Given the description of an element on the screen output the (x, y) to click on. 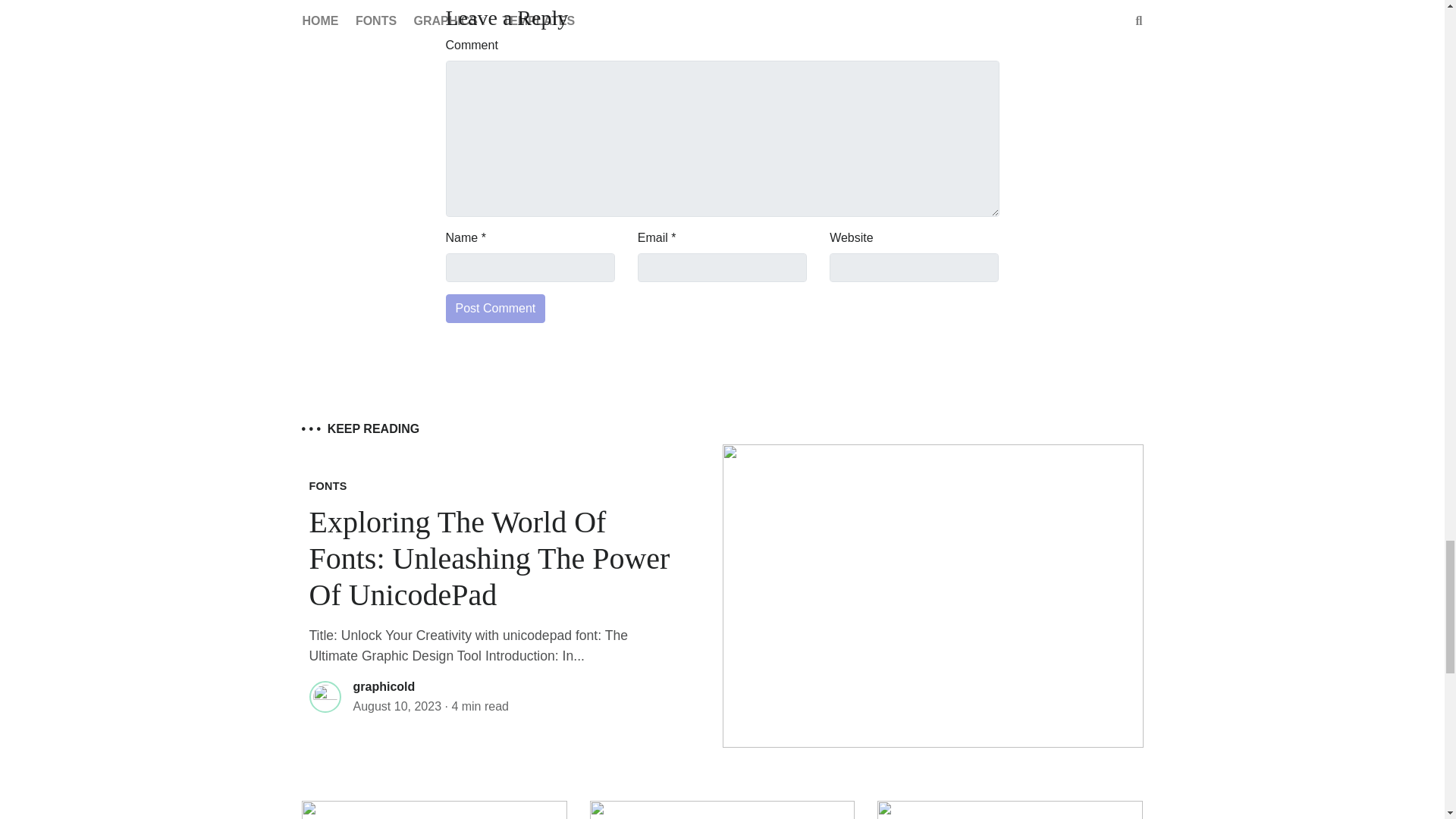
Posts by graphicold (383, 686)
Post Comment (495, 308)
FONTS (327, 485)
Post Comment (495, 308)
